Given the description of an element on the screen output the (x, y) to click on. 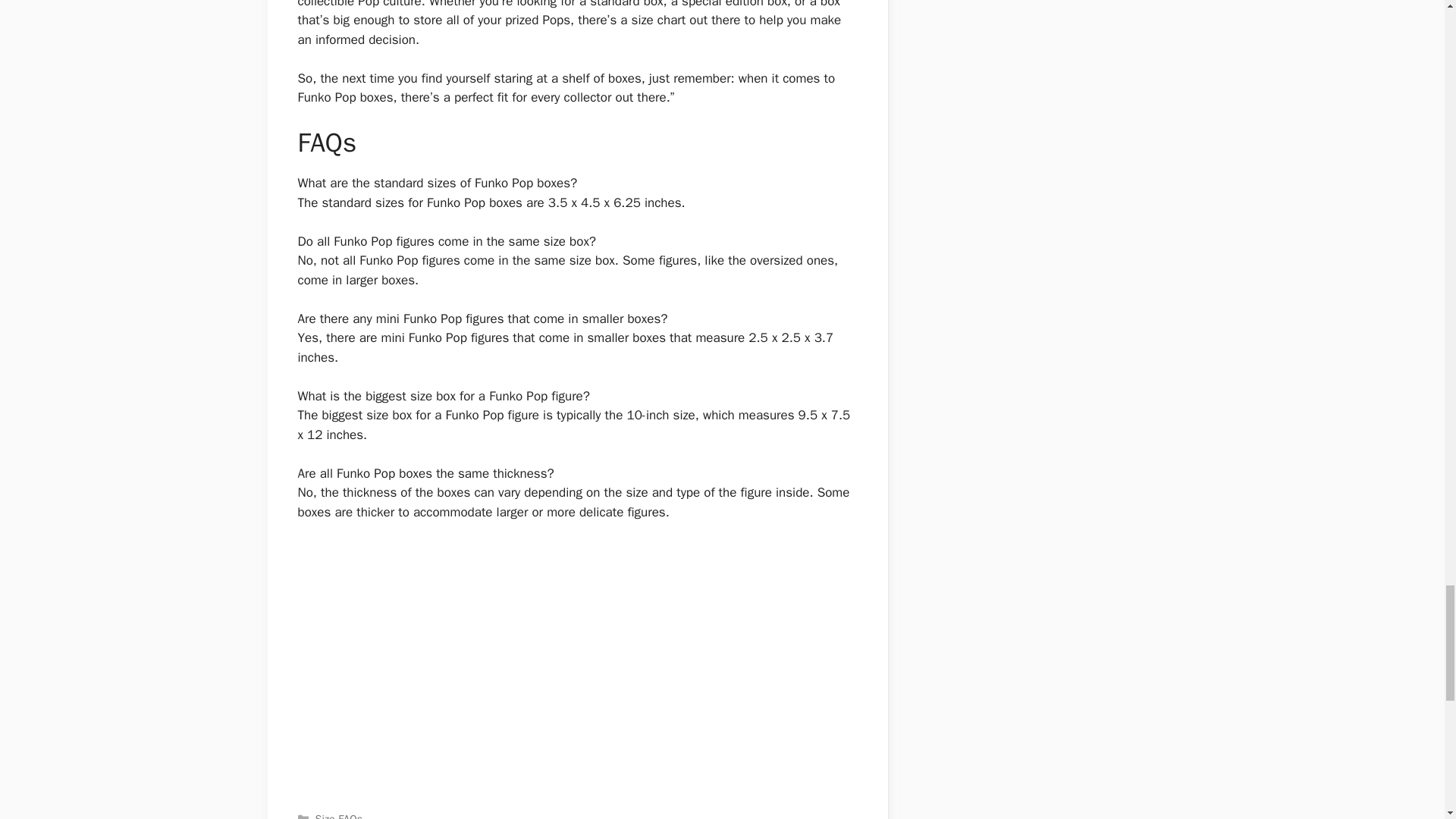
Size FAQs (338, 815)
